Given the description of an element on the screen output the (x, y) to click on. 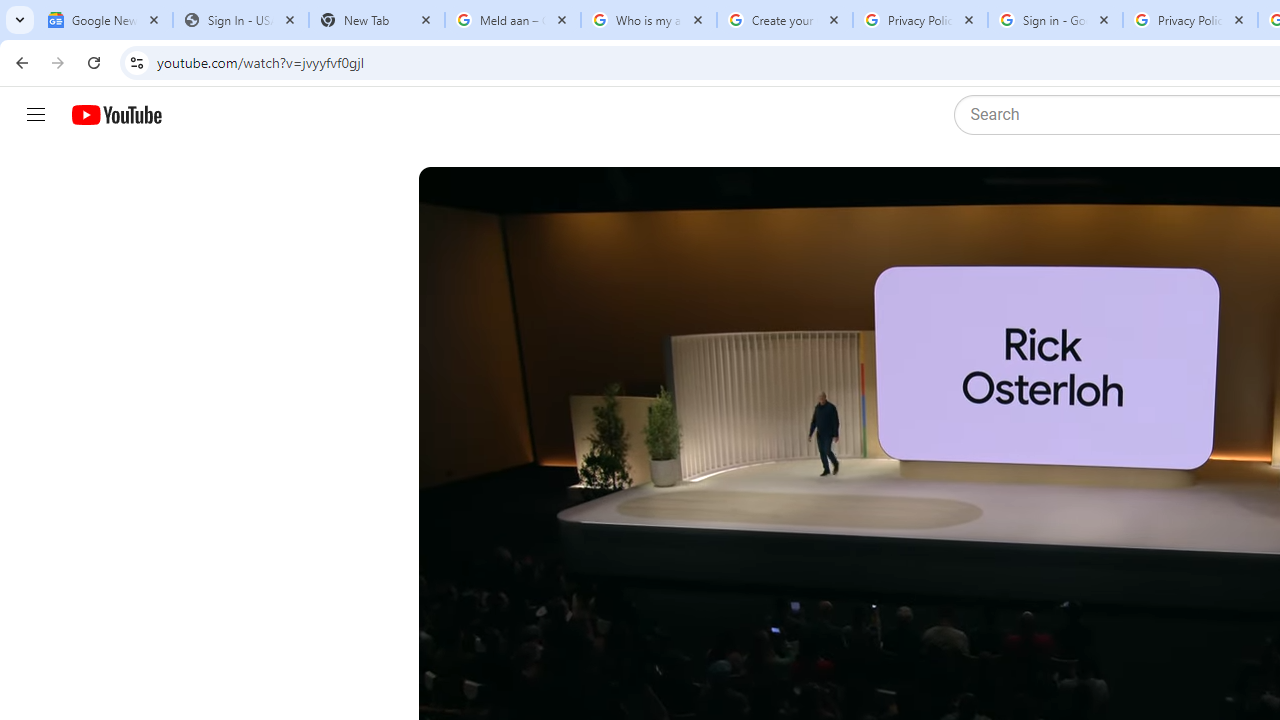
Create your Google Account (784, 20)
Google News (104, 20)
